Given the description of an element on the screen output the (x, y) to click on. 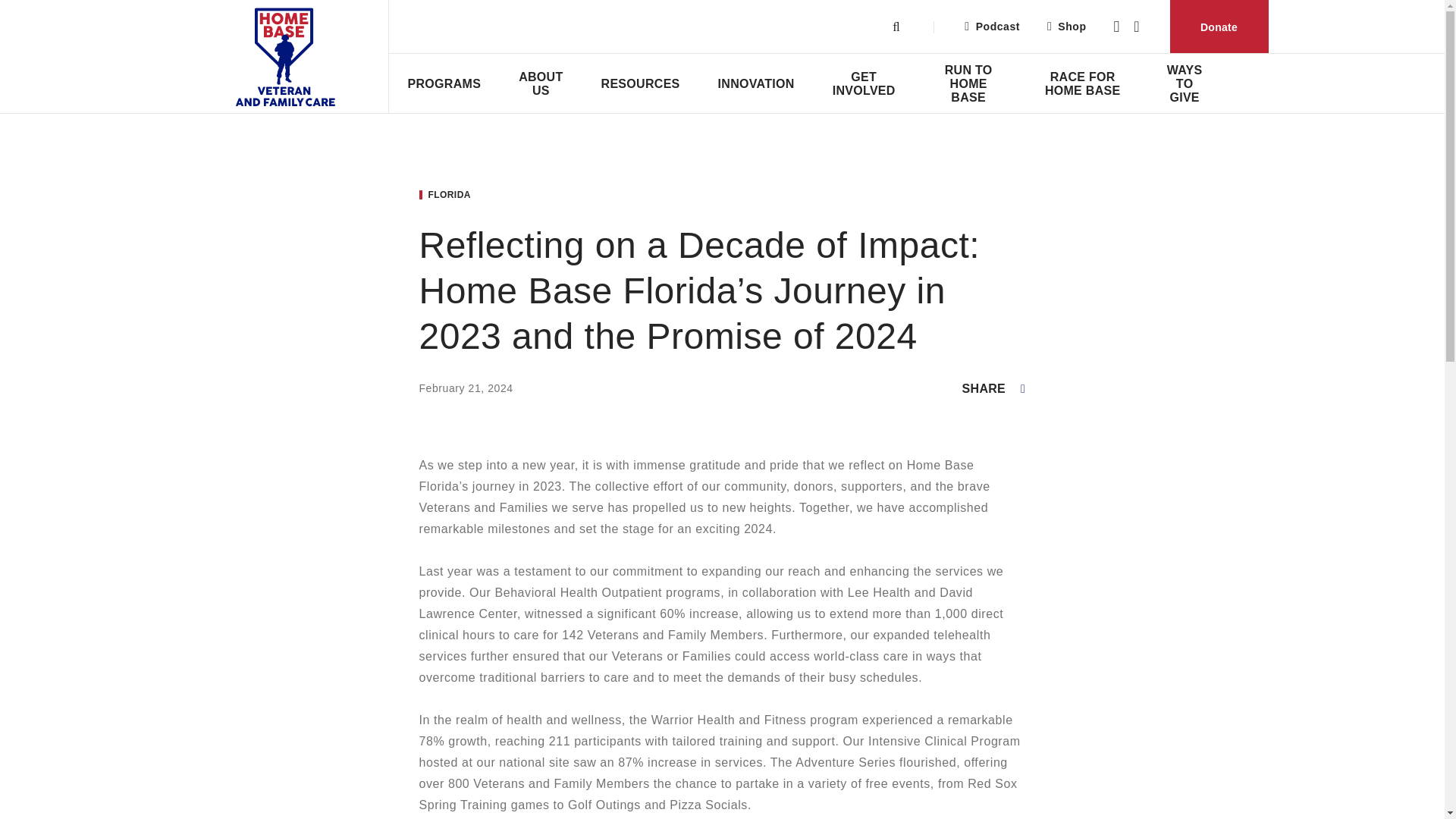
Share this page (994, 388)
Like us on Facebook (1116, 26)
Connect with us on LinkedIn (1136, 26)
Like us on Facebook (1116, 26)
Home Base (304, 56)
Donate (1218, 26)
Connect with us on LinkedIn (1136, 26)
Search the site (896, 26)
Podcast (991, 26)
Shop (1066, 26)
PROGRAMS (443, 83)
